Given the description of an element on the screen output the (x, y) to click on. 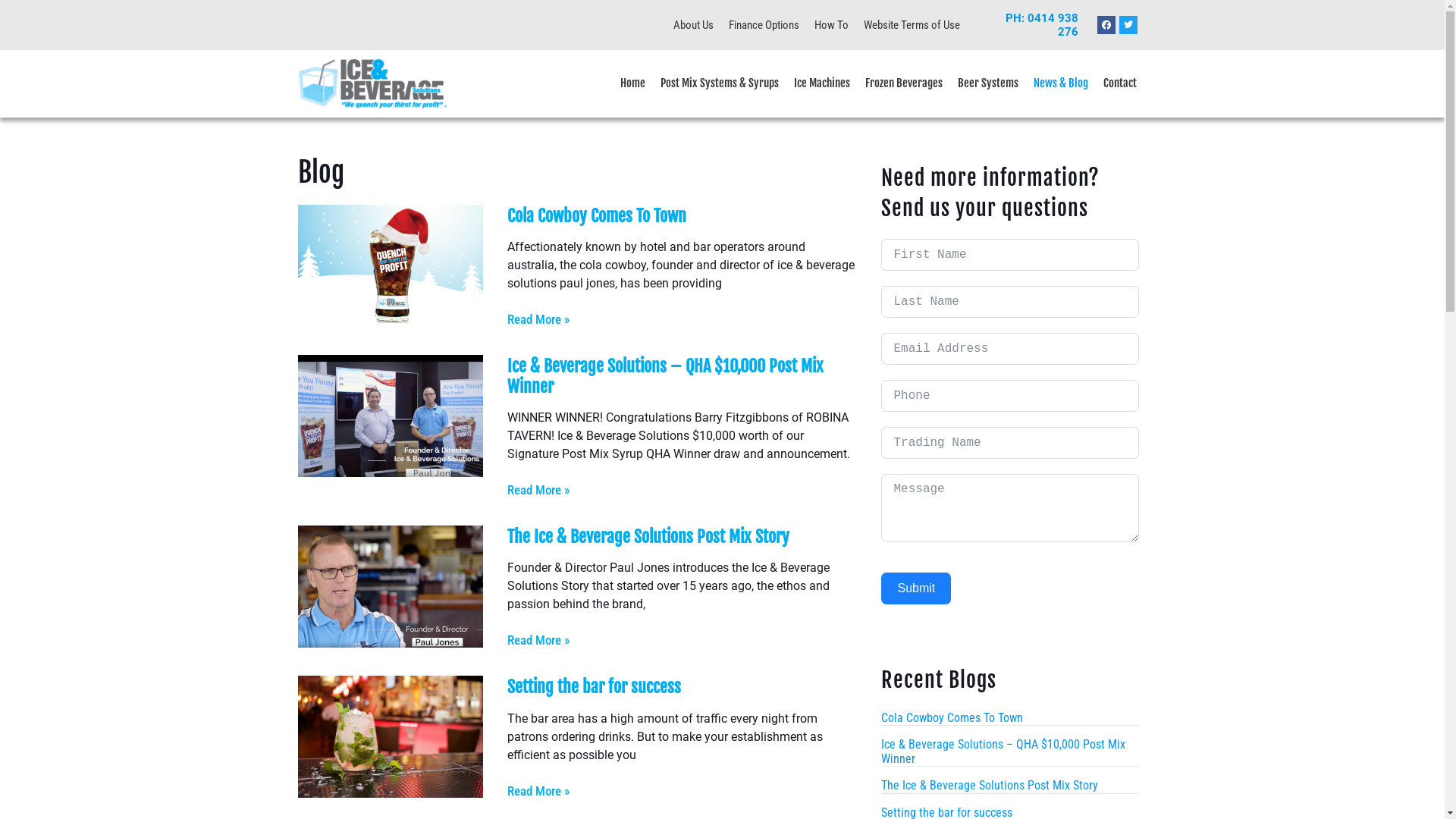
Submit Element type: text (915, 588)
The Ice & Beverage Solutions Post Mix Story Element type: text (989, 785)
Ice Machines Element type: text (821, 82)
Frozen Beverages Element type: text (903, 82)
Setting the bar for success Element type: text (593, 686)
Cola Cowboy Comes To Town Element type: text (596, 215)
Home Element type: text (632, 82)
How To Element type: text (831, 24)
Post Mix Systems & Syrups Element type: text (719, 82)
Website Terms of Use Element type: text (910, 24)
Finance Options Element type: text (763, 24)
Beer Systems Element type: text (988, 82)
The Ice & Beverage Solutions Post Mix Story Element type: text (648, 536)
News & Blog Element type: text (1060, 82)
Contact Element type: text (1119, 82)
Cola Cowboy Comes To Town Element type: text (951, 717)
About Us Element type: text (693, 24)
